Given the description of an element on the screen output the (x, y) to click on. 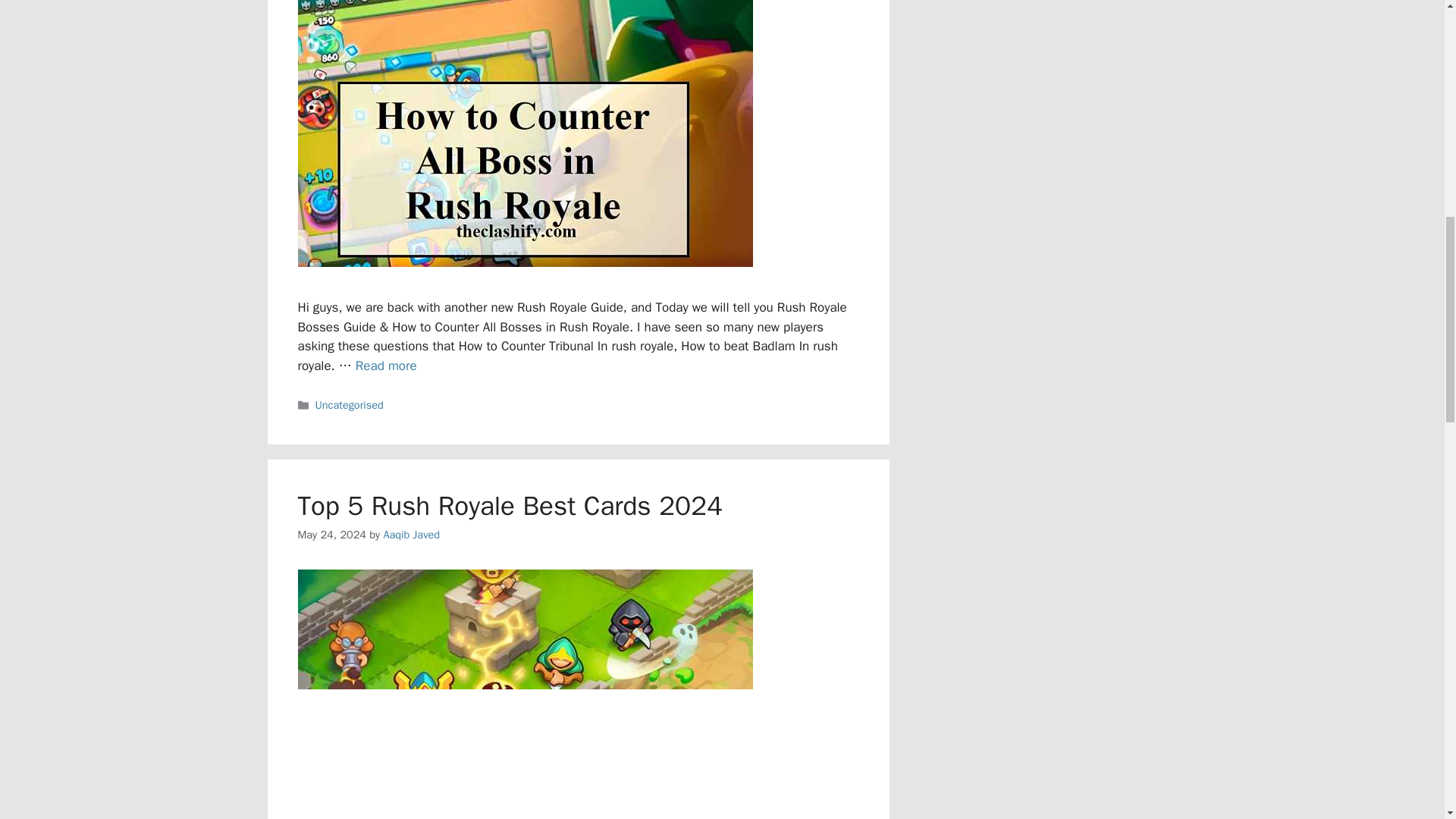
Read more (385, 365)
View all posts by Aaqib Javed (410, 534)
Uncategorised (349, 404)
Aaqib Javed (410, 534)
Top 5 Rush Royale Best Cards 2024 (509, 505)
